Given the description of an element on the screen output the (x, y) to click on. 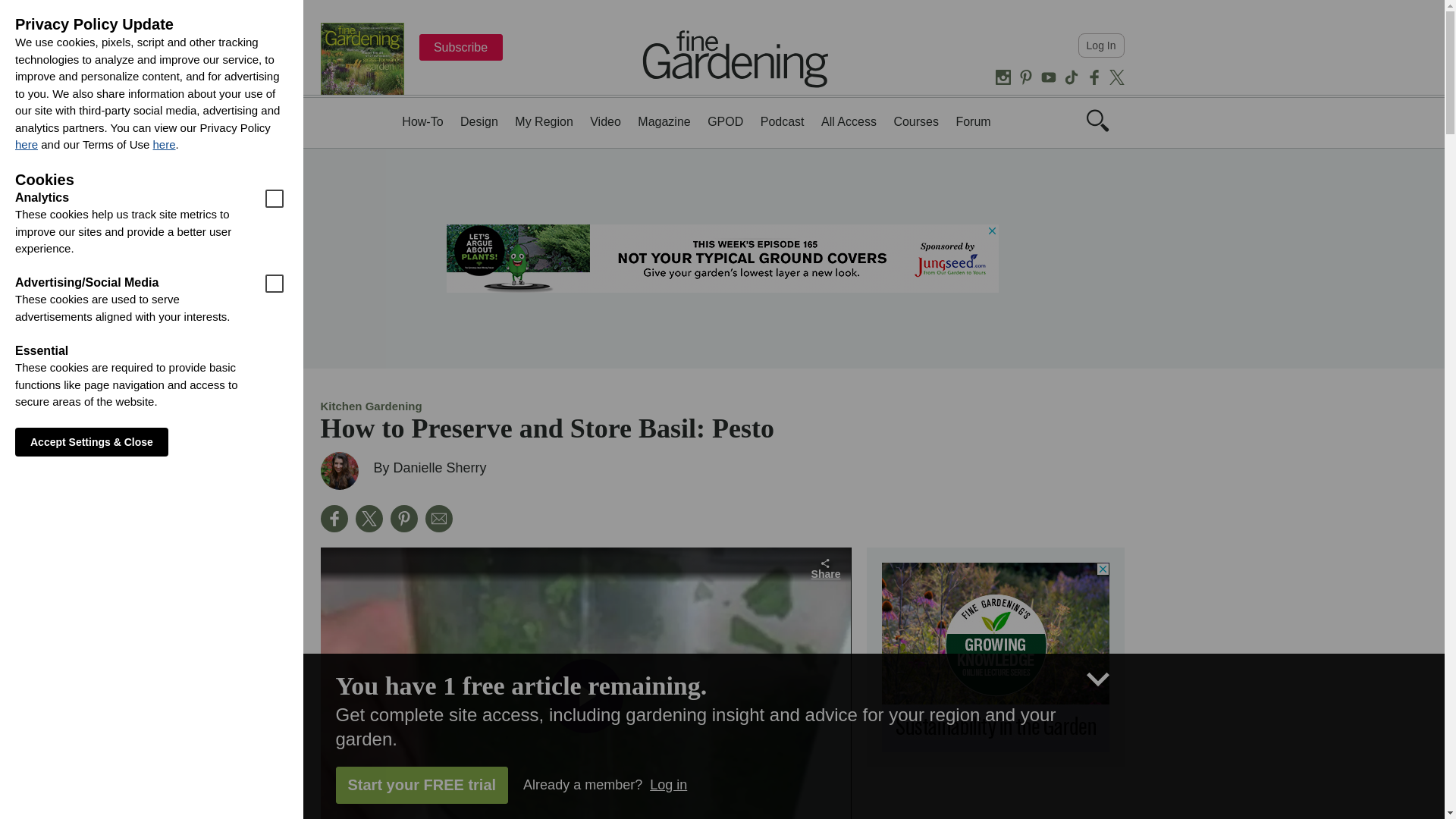
Log In (1101, 45)
My Region (543, 121)
Forum (972, 121)
Facebook (333, 518)
All Access (848, 121)
Video (605, 121)
Fine Gardening (735, 58)
Open Search (1097, 119)
TikTok (1070, 77)
Subscribe (460, 47)
